Given the description of an element on the screen output the (x, y) to click on. 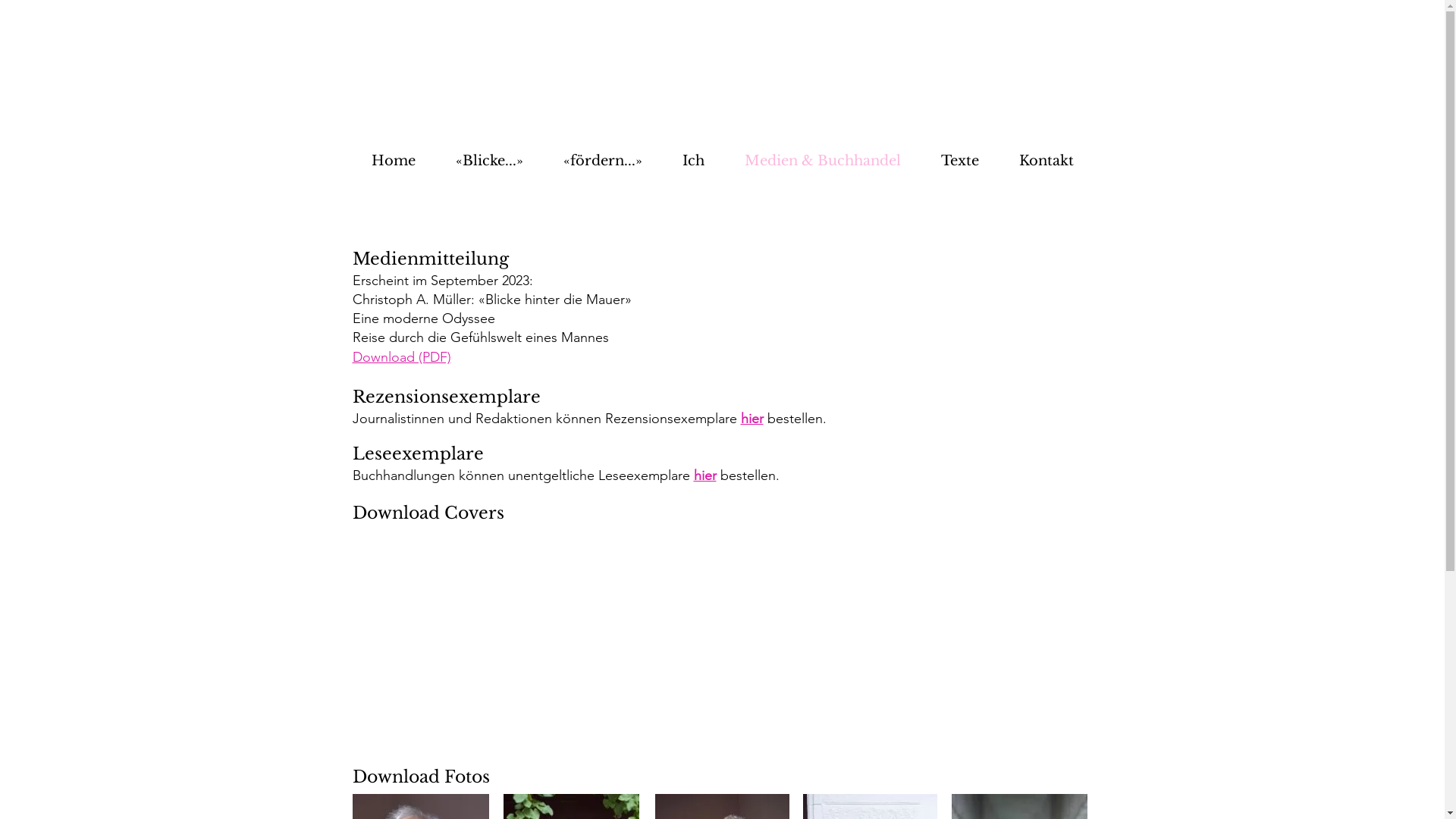
Kontakt Element type: text (1046, 161)
hier Element type: text (704, 475)
hier Element type: text (751, 418)
Medien & Buchhandel Element type: text (822, 161)
Texte Element type: text (959, 161)
Home Element type: text (392, 161)
Download (PDF) Element type: text (400, 356)
Ich Element type: text (693, 161)
